Given the description of an element on the screen output the (x, y) to click on. 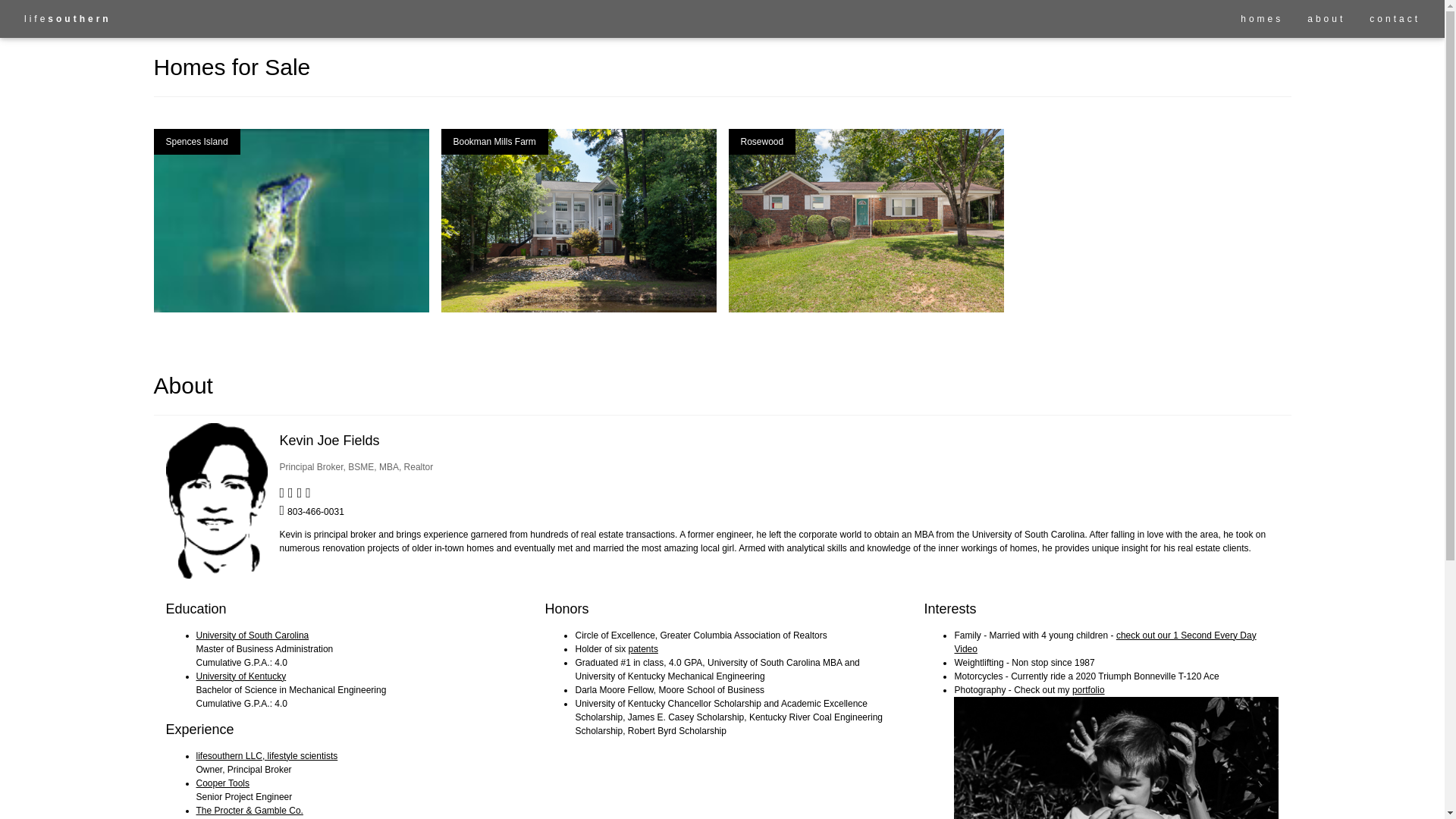
contact (1394, 18)
about (1325, 18)
check out our 1 Second Every Day Video (1104, 641)
patents (643, 648)
University of South Carolina (251, 634)
Photography Portfolio (1088, 689)
Cooper Tools (221, 783)
homes (1261, 18)
University of Kentucky (240, 675)
lifesouthern LLC, lifestyle scientists (266, 756)
lifesouthern (67, 18)
portfolio (1088, 689)
